Given the description of an element on the screen output the (x, y) to click on. 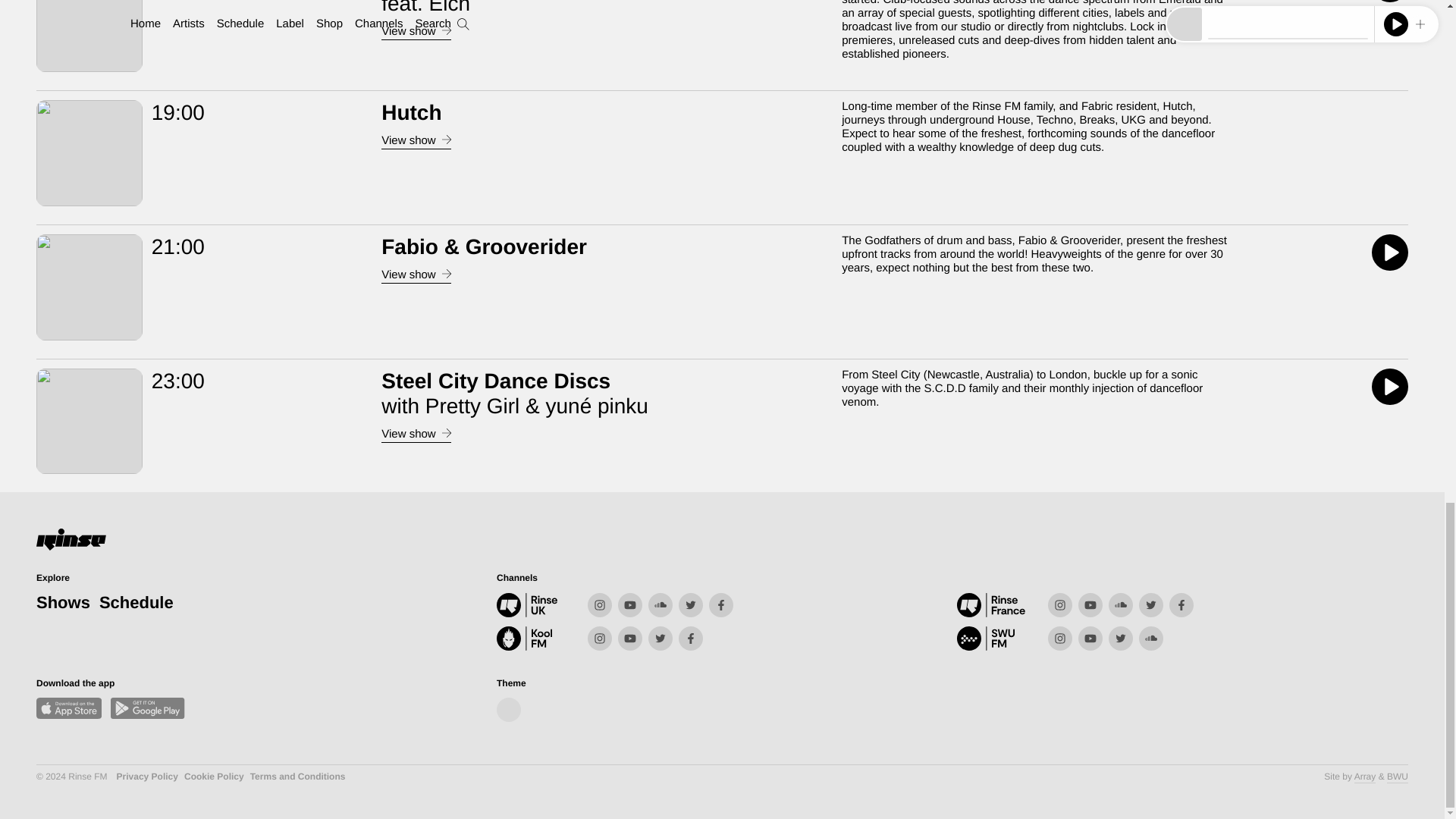
Shows (63, 602)
Schedule (136, 602)
UK (542, 604)
Go to home (71, 541)
